Given the description of an element on the screen output the (x, y) to click on. 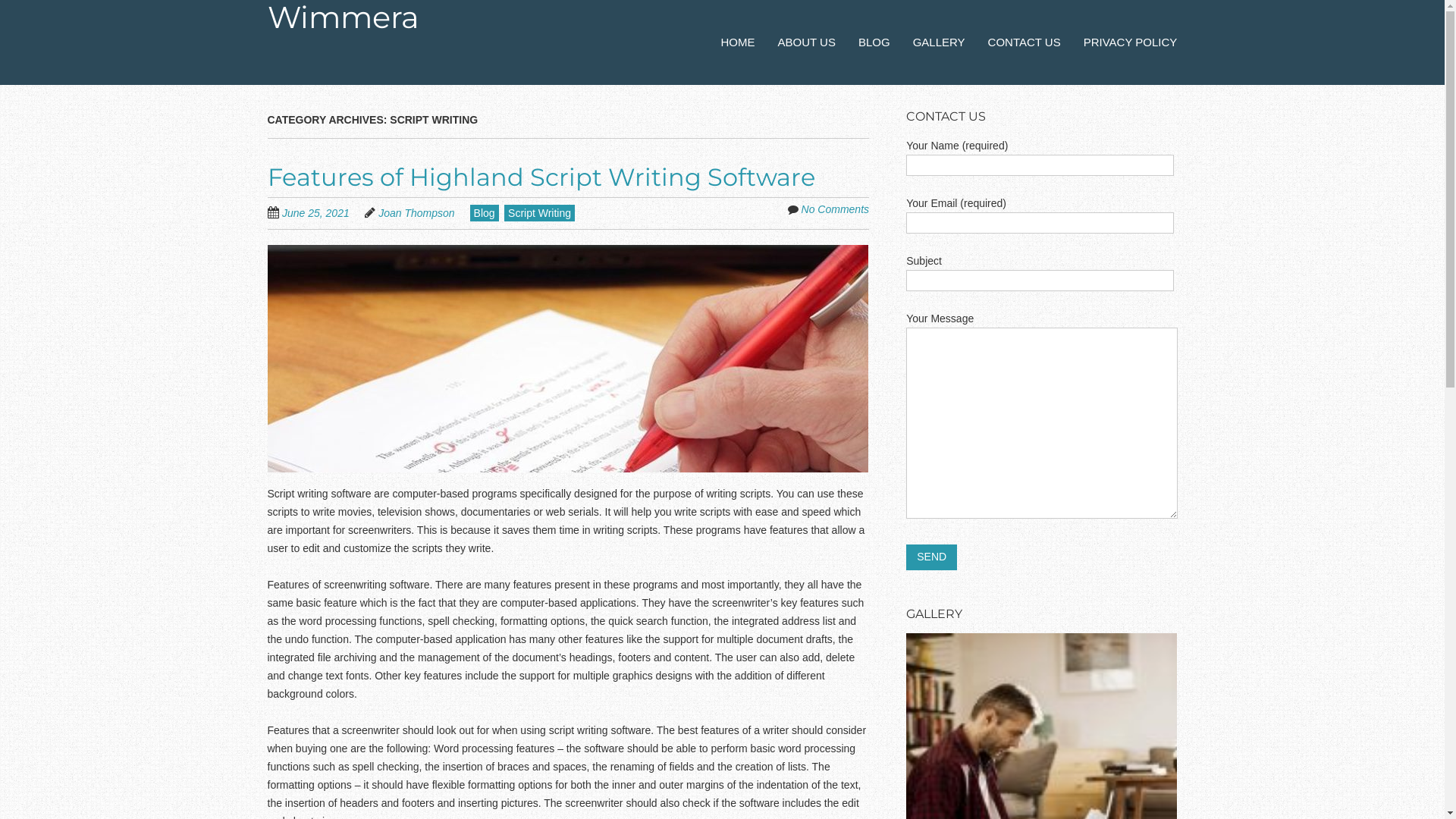
CONTACT US Element type: text (1024, 42)
GALLERY Element type: text (939, 42)
Skip to content Element type: text (738, 35)
Script Writing Element type: text (539, 212)
HOME Element type: text (738, 42)
ABOUT US Element type: text (806, 42)
Send Element type: text (931, 557)
Joan Thompson Element type: text (416, 213)
PRIVACY POLICY Element type: text (1130, 42)
No Comments Element type: text (835, 209)
Features of Highland Script Writing Software Element type: text (540, 176)
June 25, 2021 Element type: text (323, 212)
BLOG Element type: text (874, 42)
Blog Element type: text (484, 212)
